Given the description of an element on the screen output the (x, y) to click on. 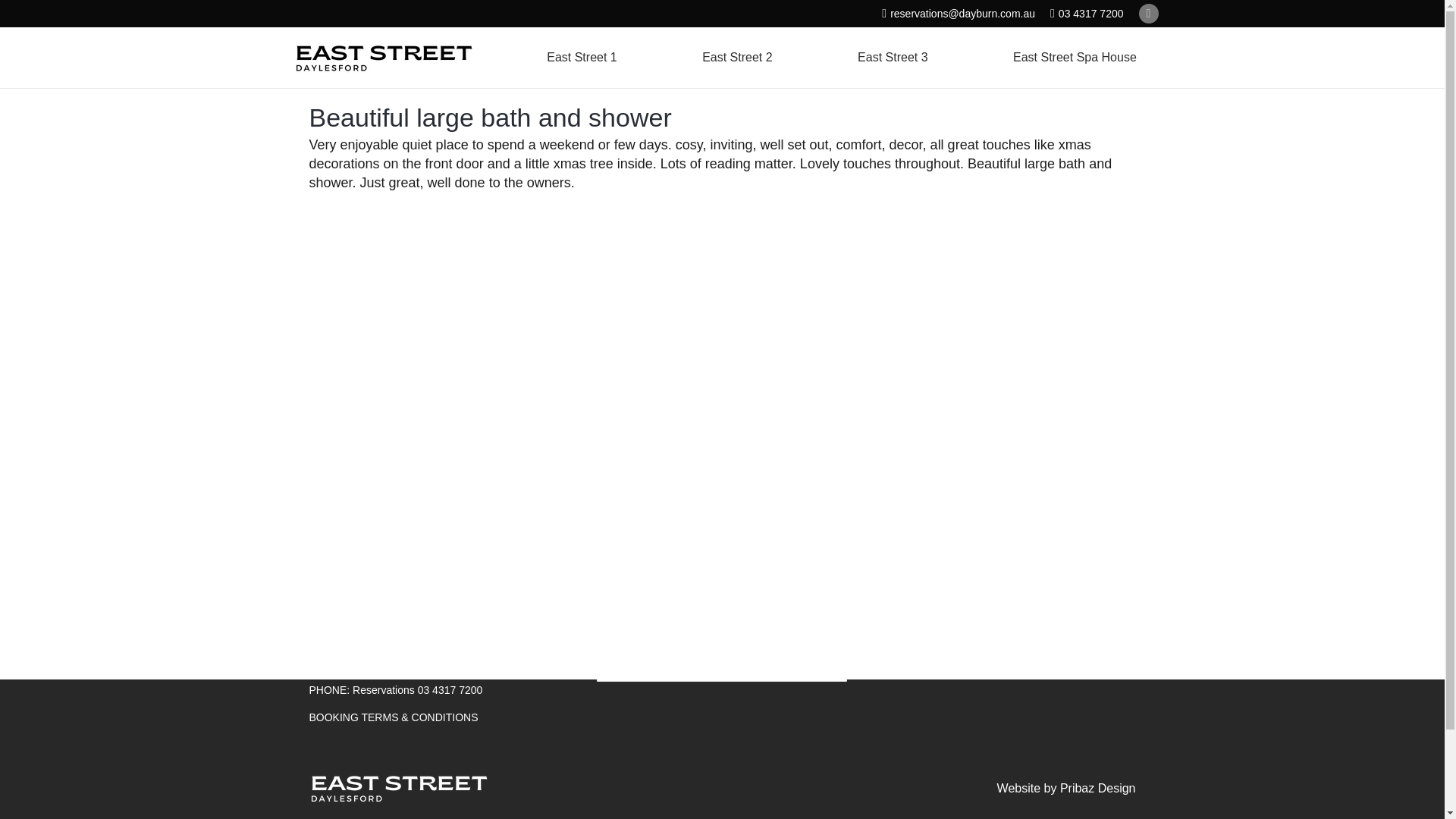
East Street 3 (893, 56)
East Street 2 (737, 56)
Go! (823, 666)
East Street Spa House (1074, 56)
Facebook page opens in new window (1148, 13)
East Street 1 (582, 56)
Go! (823, 666)
Pribaz Design (1097, 787)
Go! (823, 666)
Facebook page opens in new window (1148, 13)
